Given the description of an element on the screen output the (x, y) to click on. 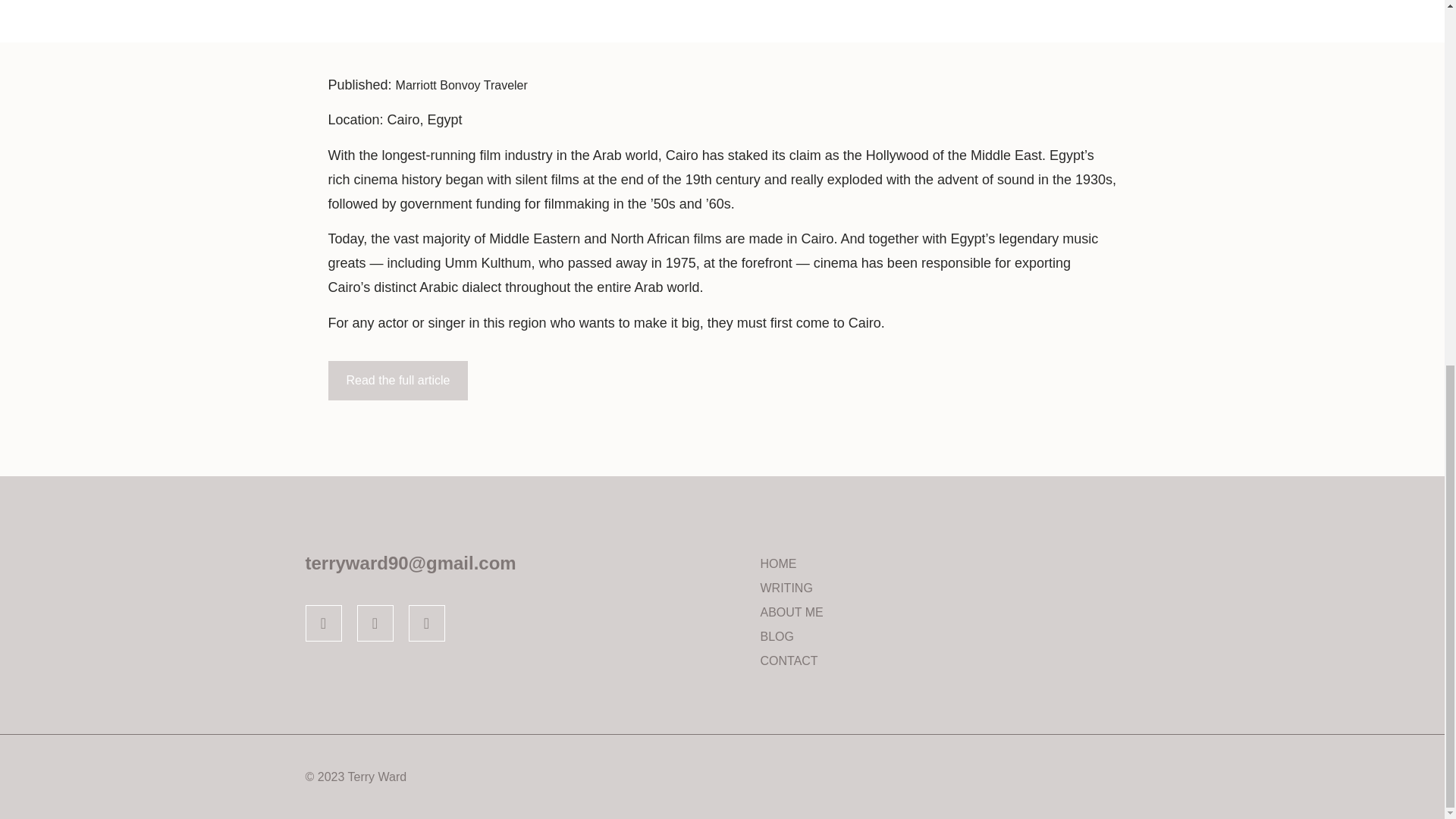
Marriott Bonvoy Traveler  (463, 84)
WRITING (949, 588)
HOME (949, 564)
Read the full article (397, 380)
BLOG (949, 636)
CONTACT (949, 661)
ABOUT ME (949, 612)
